Given the description of an element on the screen output the (x, y) to click on. 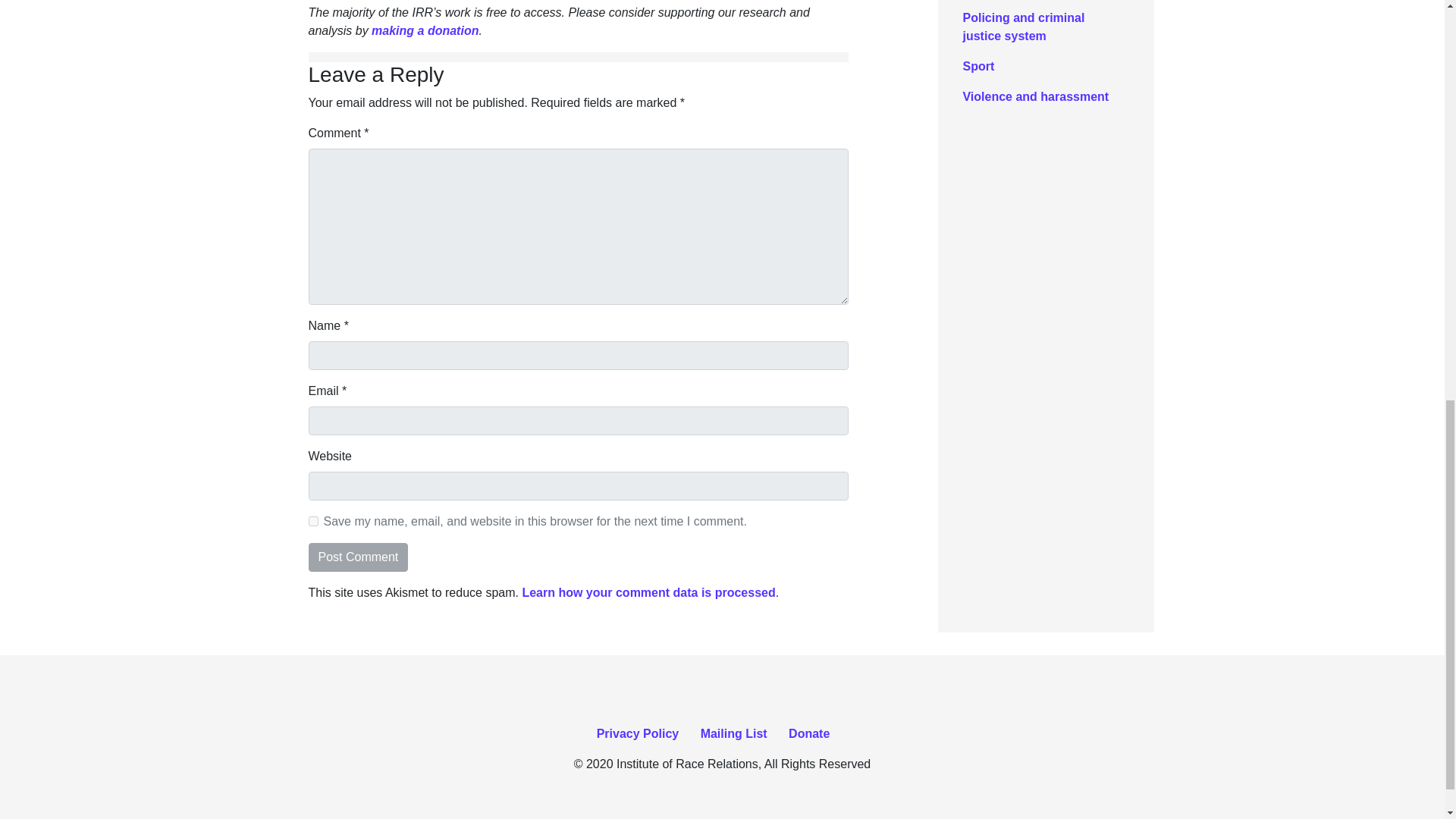
yes (312, 521)
Post Comment (357, 556)
